Given the description of an element on the screen output the (x, y) to click on. 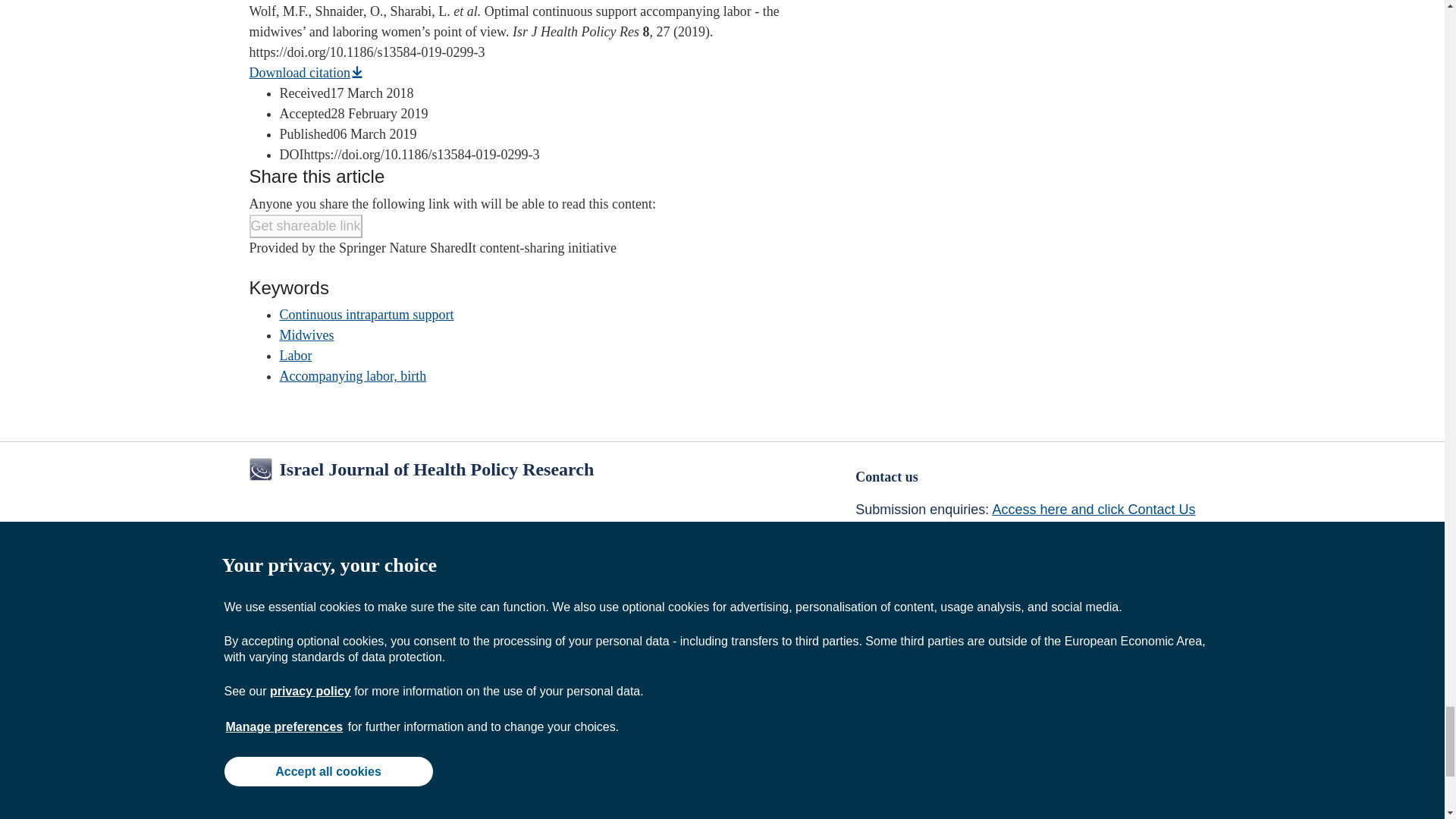
Digital Object Identifier (290, 154)
